Given the description of an element on the screen output the (x, y) to click on. 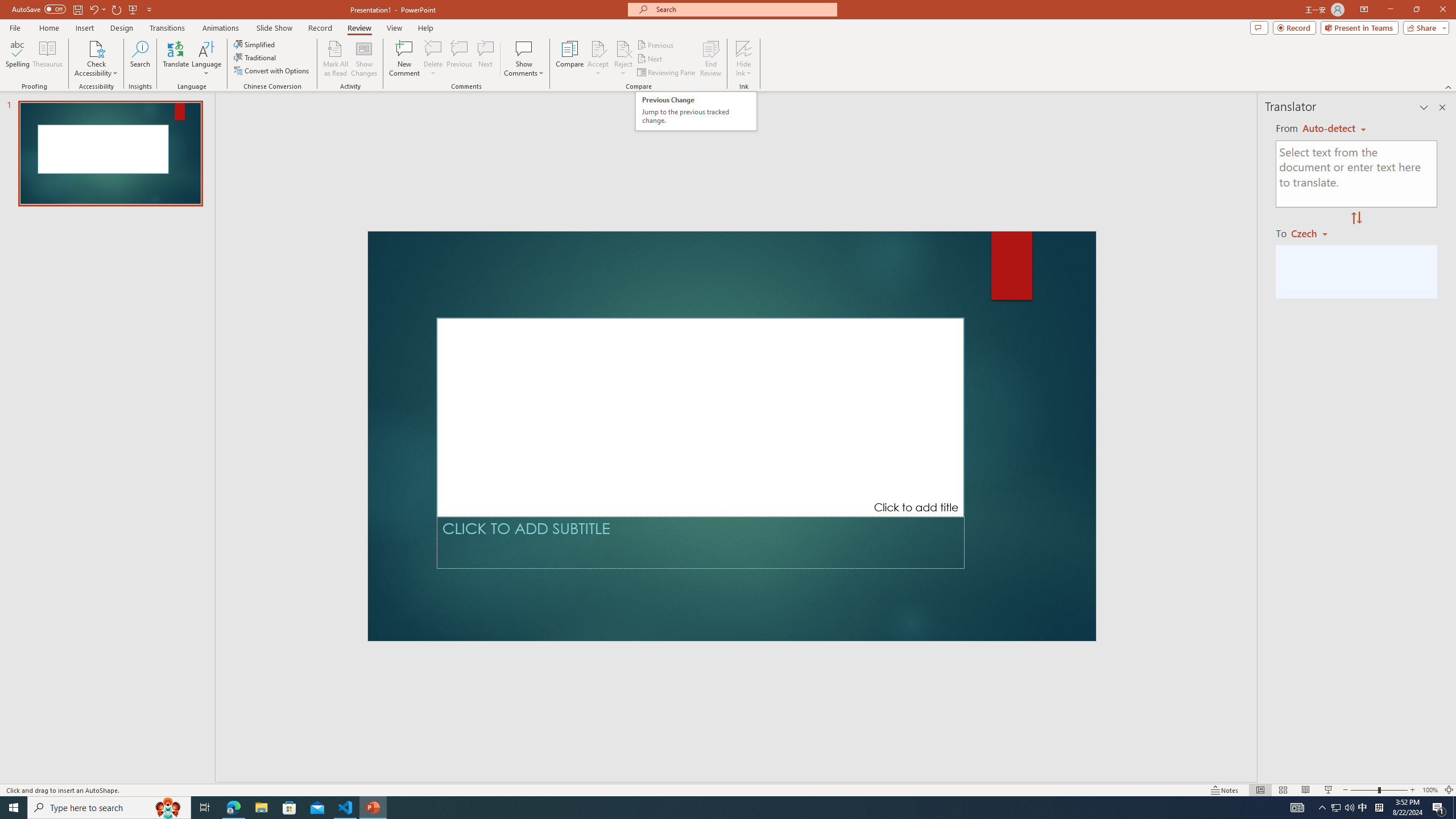
Thesaurus... (47, 58)
Reject (622, 58)
Zoom 100% (1430, 790)
Compare (569, 58)
